Given the description of an element on the screen output the (x, y) to click on. 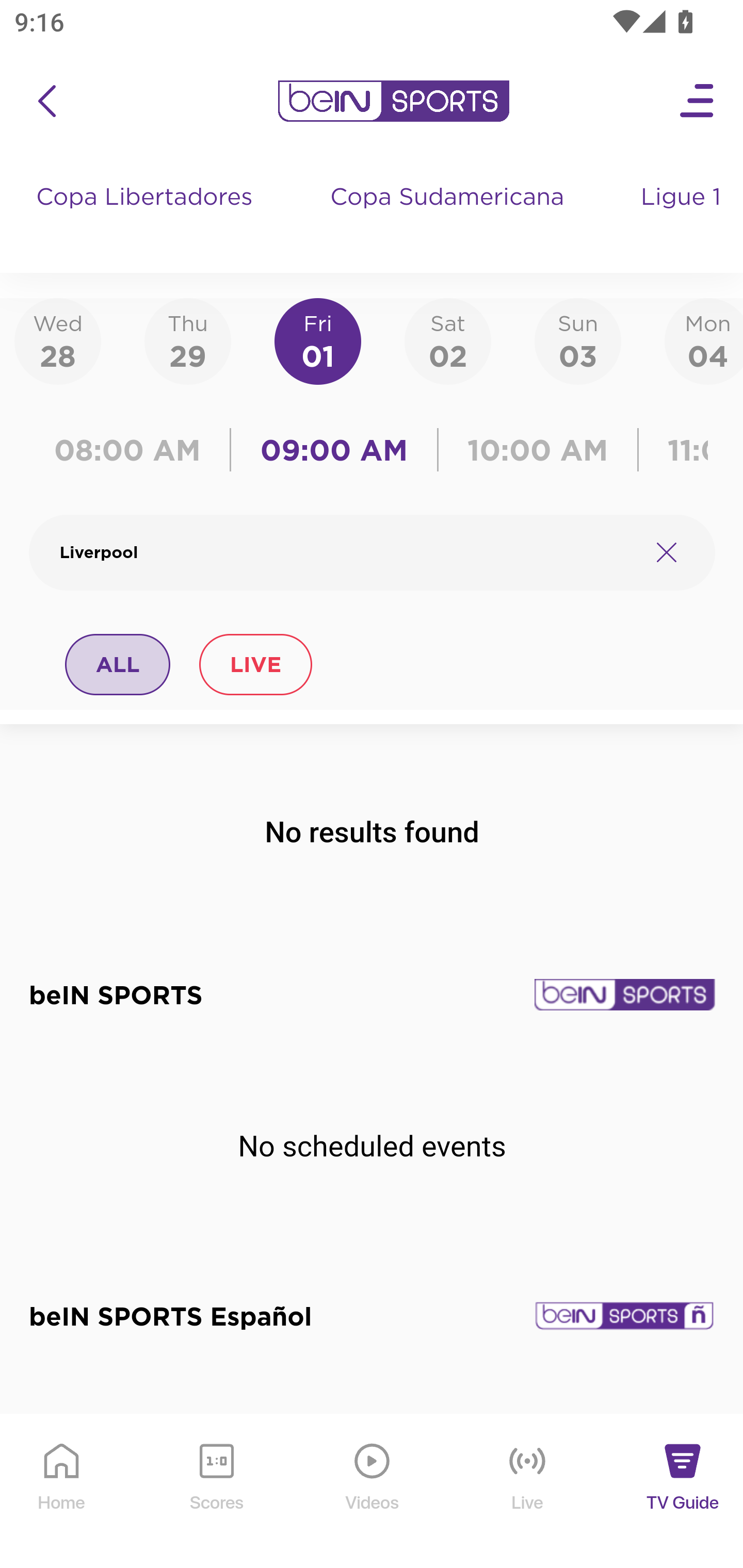
en-us?platform=mobile_android bein logo (392, 101)
icon back (46, 101)
Open Menu Icon (697, 101)
Copa Libertadores (146, 216)
Copa Sudamericana (448, 216)
Ligue 1 (682, 216)
Wed28 (58, 340)
Thu29 (187, 340)
Fri01 (318, 340)
Sat02 (447, 340)
Sun03 (578, 340)
Mon04 (703, 340)
08:00 AM (134, 449)
09:00 AM (334, 449)
10:00 AM (537, 449)
Liverpool (346, 552)
ALL (118, 663)
LIVE (255, 663)
Home Home Icon Home (61, 1491)
Scores Scores Icon Scores (216, 1491)
Videos Videos Icon Videos (372, 1491)
TV Guide TV Guide Icon TV Guide (682, 1491)
